Given the description of an element on the screen output the (x, y) to click on. 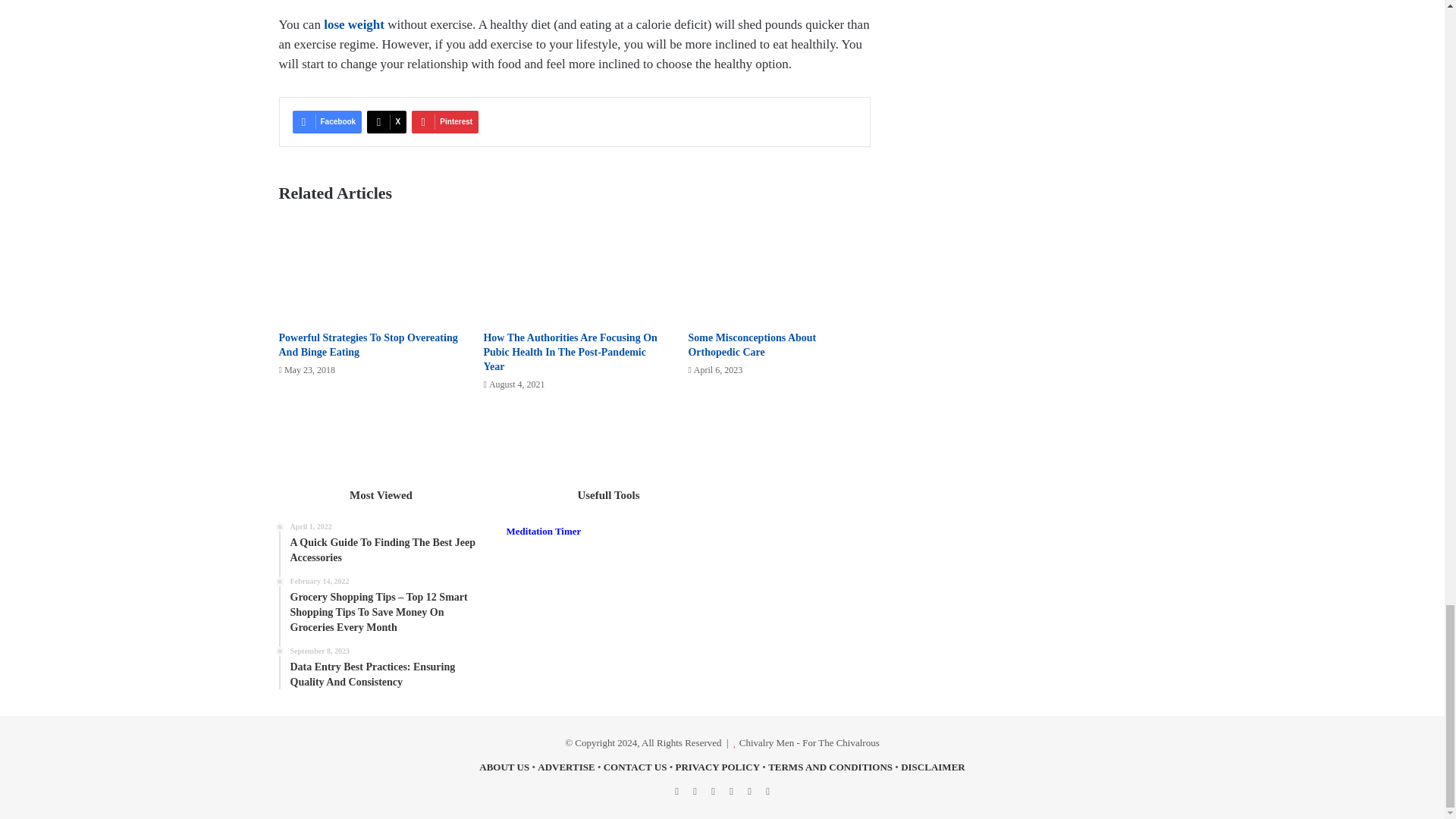
X (386, 121)
lose weight (353, 24)
Facebook (327, 121)
Pinterest (445, 121)
X (386, 121)
Some Misconceptions About Orthopedic Care (751, 344)
Facebook (327, 121)
Powerful Strategies To Stop Overeating And Binge Eating (368, 344)
Pinterest (445, 121)
